Given the description of an element on the screen output the (x, y) to click on. 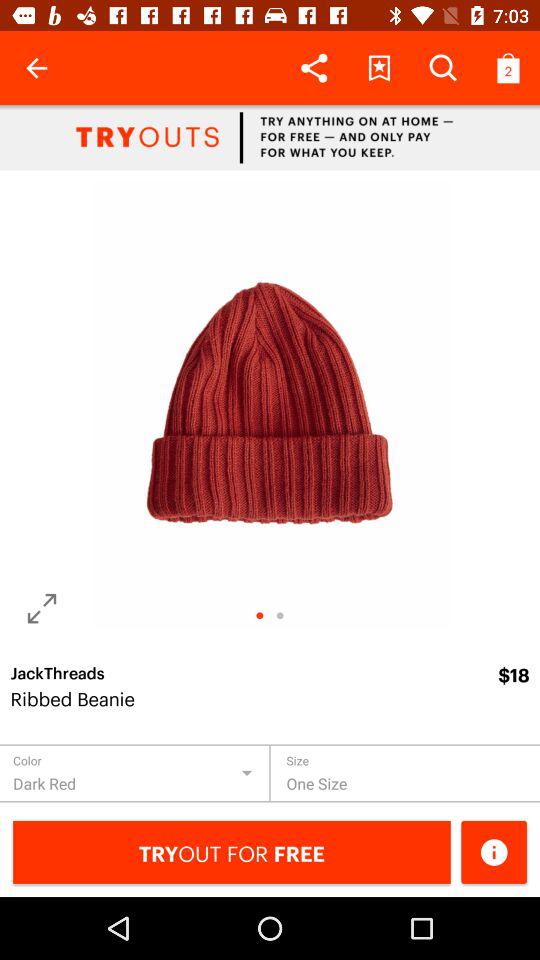
expand picture (42, 608)
